Given the description of an element on the screen output the (x, y) to click on. 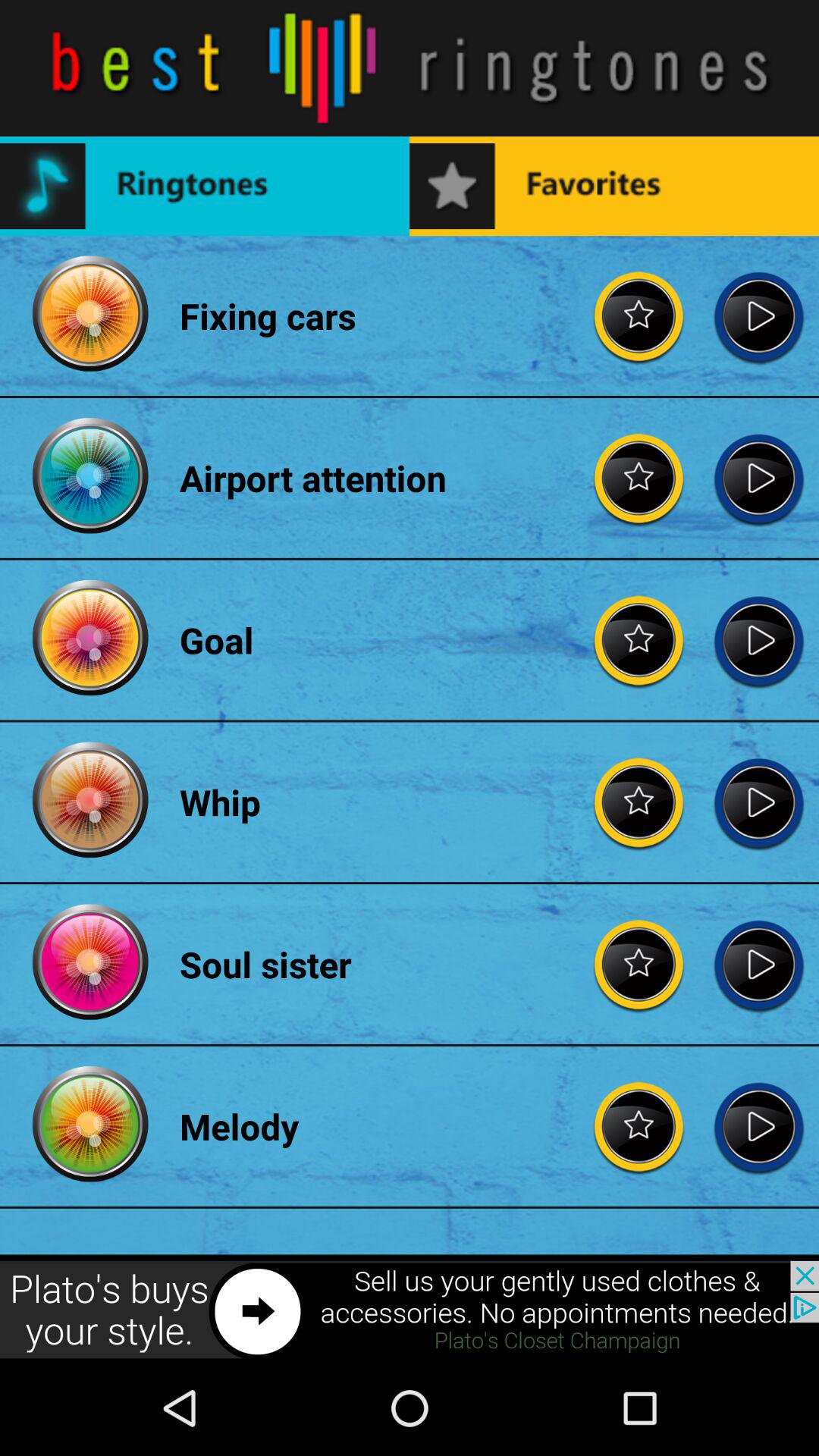
play icon (758, 964)
